Given the description of an element on the screen output the (x, y) to click on. 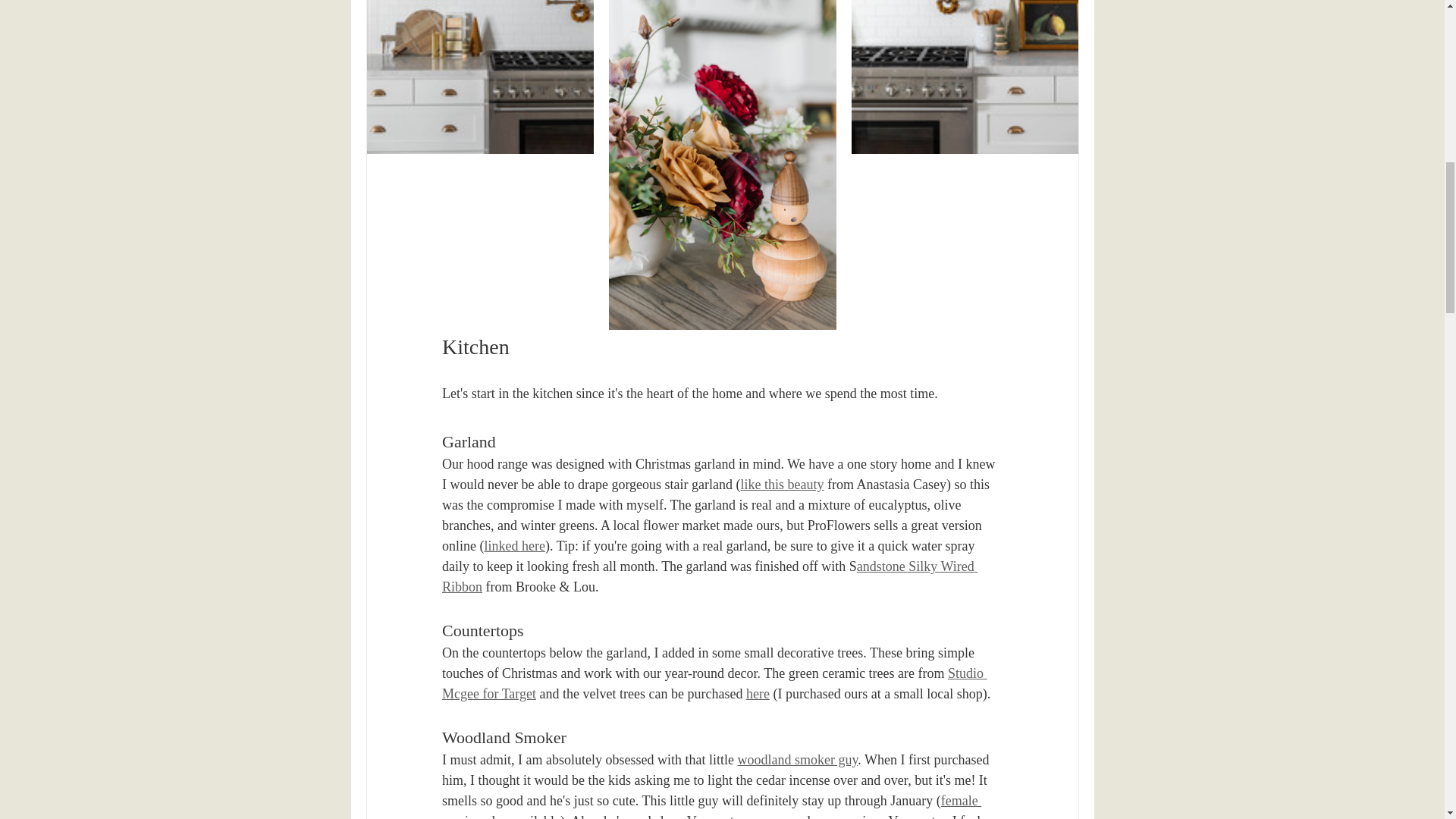
here (756, 693)
linked here (513, 545)
woodland smoker guy (796, 759)
female version (710, 806)
Studio Mcgee for Target (714, 683)
andstone Silky Wired Ribbon (708, 576)
like this beauty (781, 484)
